Given the description of an element on the screen output the (x, y) to click on. 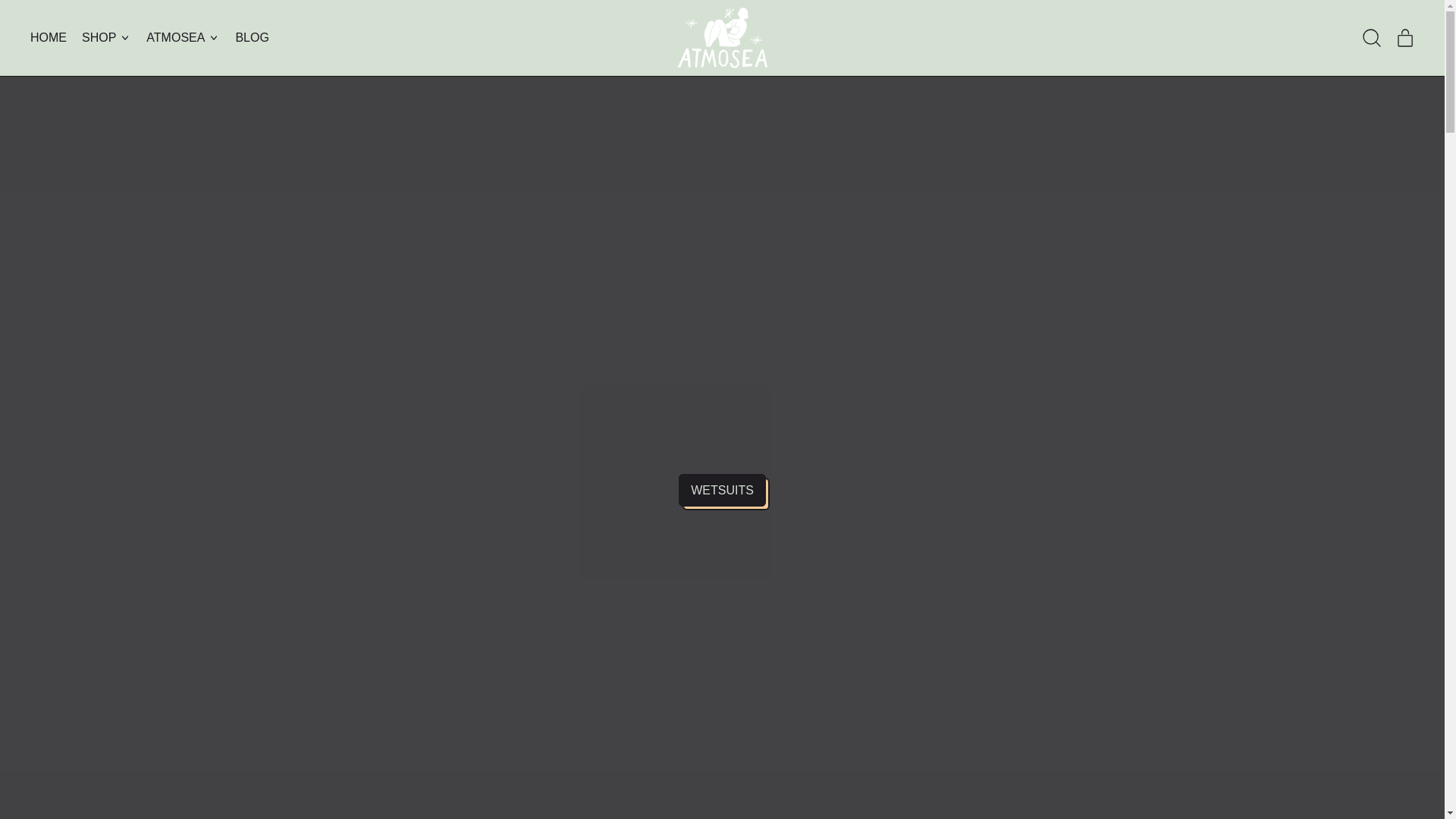
Search our site (1372, 37)
HOME (48, 37)
BLOG (251, 37)
SHOP (1405, 37)
ATMOSEA (106, 37)
WETSUITS (182, 37)
